Given the description of an element on the screen output the (x, y) to click on. 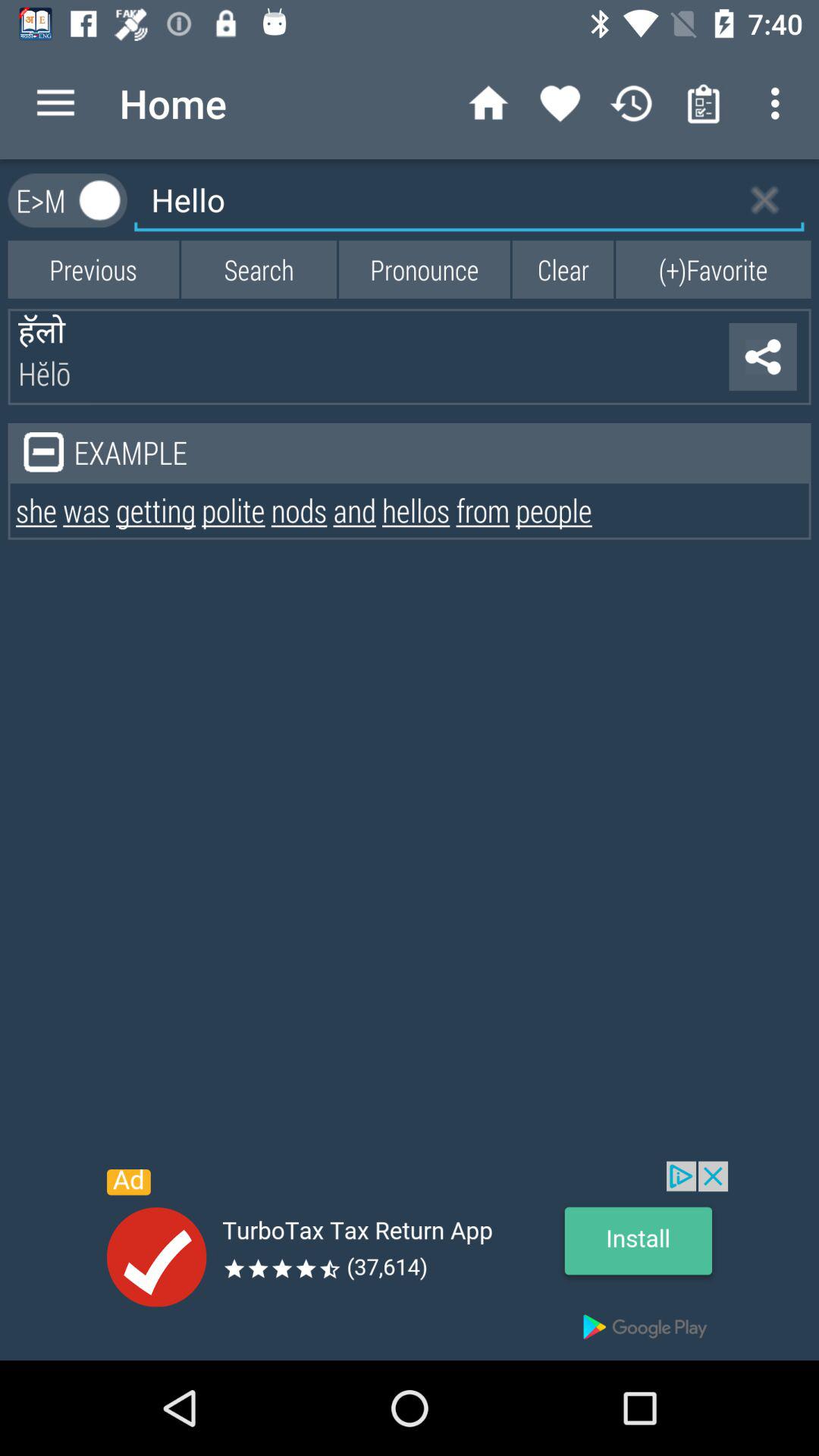
app advertisement (409, 1260)
